Given the description of an element on the screen output the (x, y) to click on. 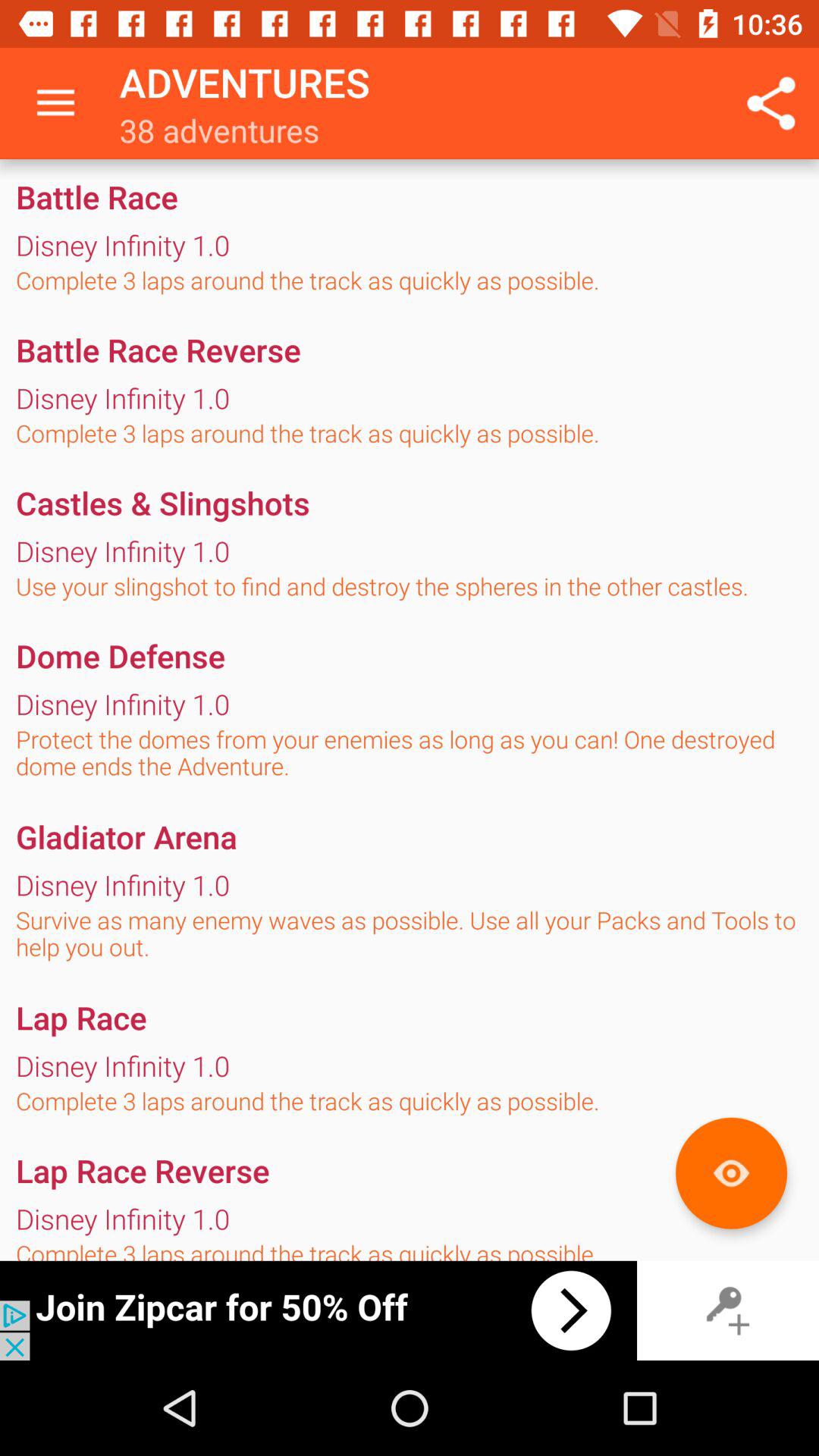
click on the share icon (771, 103)
click the orange colored button in the page (731, 1173)
